Given the description of an element on the screen output the (x, y) to click on. 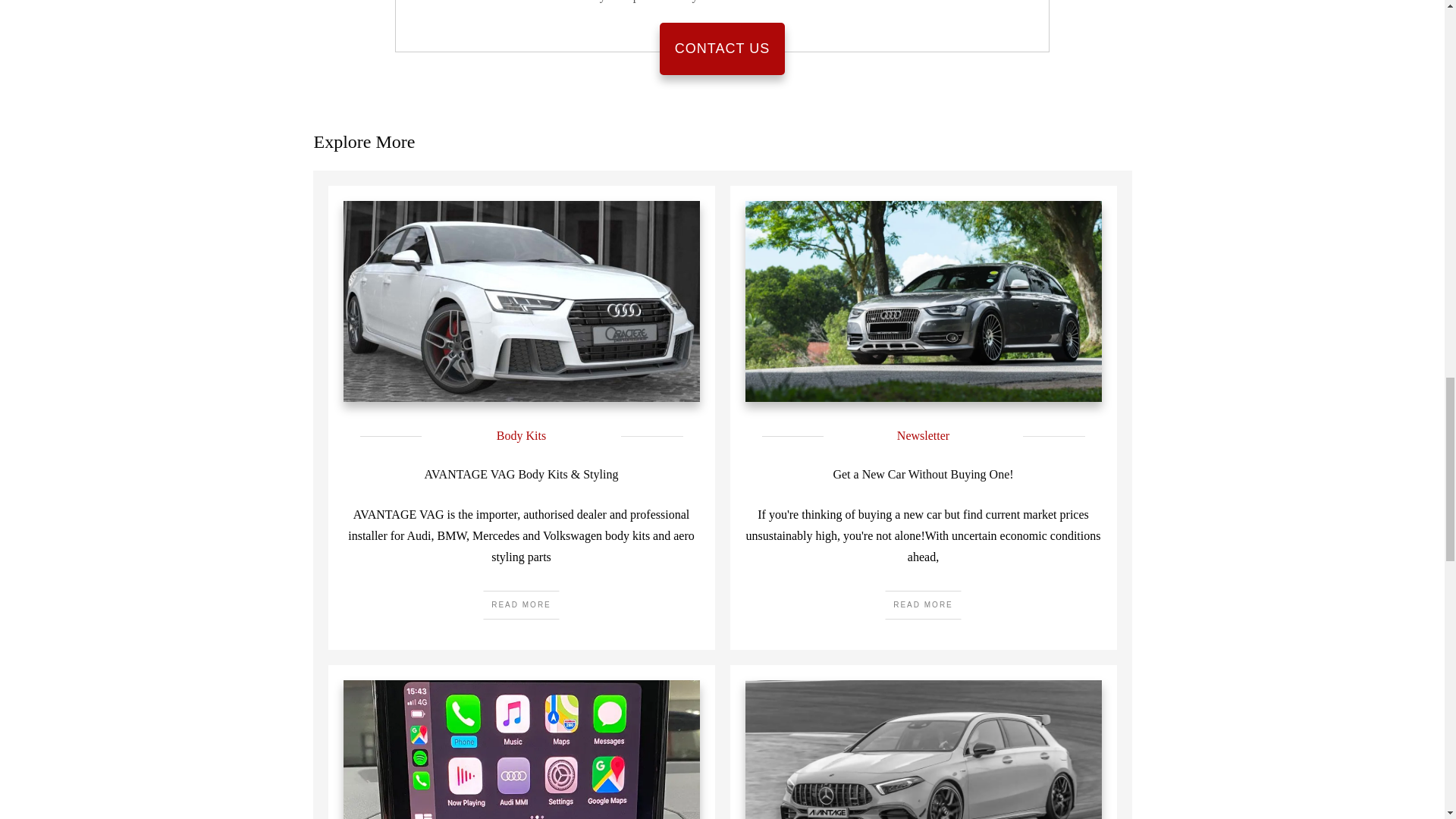
Newsletter (922, 435)
Get a New Car Without Buying One! (922, 473)
Body Kits (521, 435)
